Given the description of an element on the screen output the (x, y) to click on. 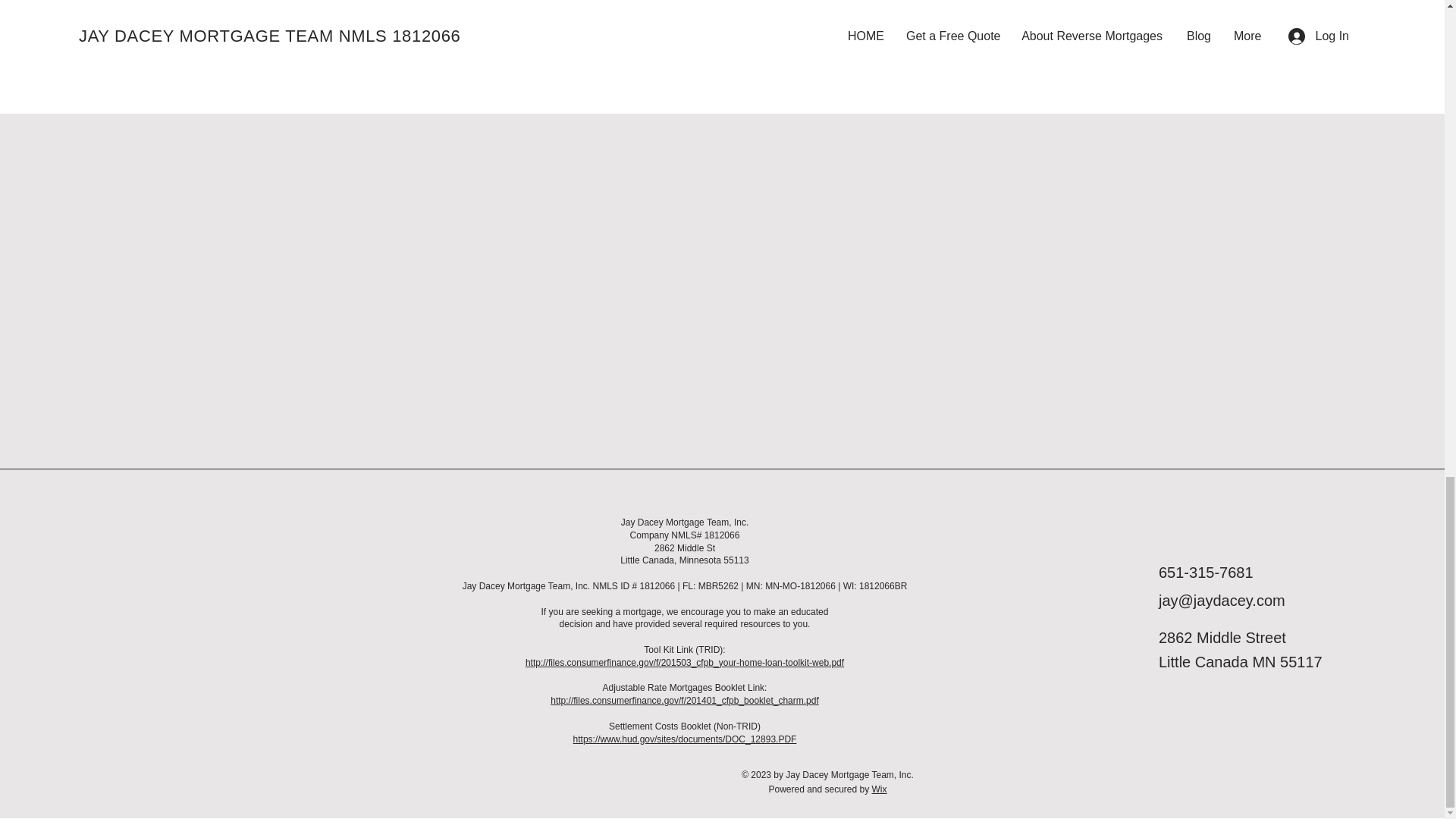
Wix (879, 788)
